Given the description of an element on the screen output the (x, y) to click on. 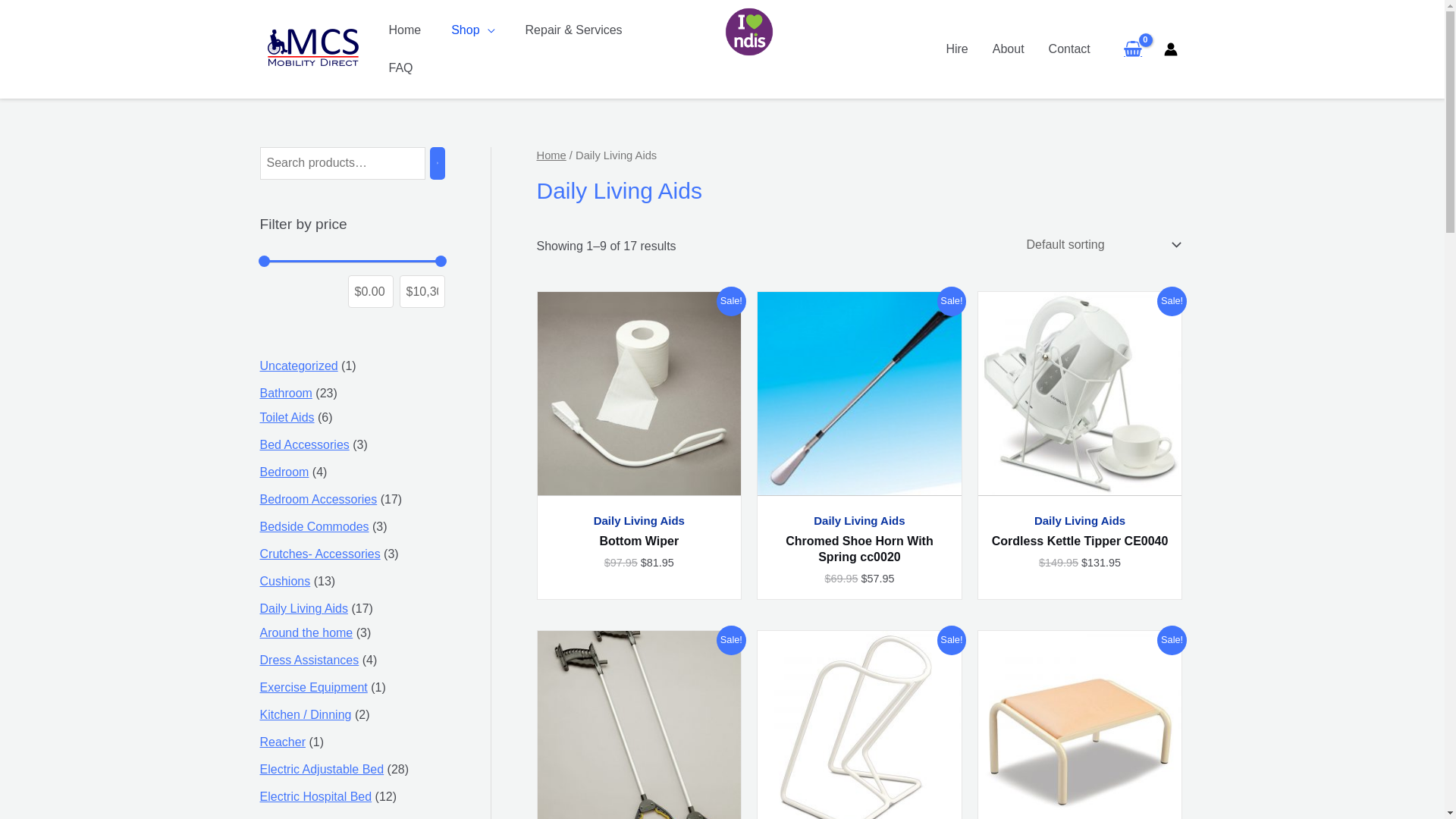
Exercise Equipment Element type: text (313, 686)
Home Element type: text (551, 155)
Bottom Wiper Element type: text (638, 541)
Bedroom Element type: text (283, 471)
Electric Hospital Bed Element type: text (315, 796)
FAQ Element type: text (400, 68)
Hire Element type: text (956, 49)
Daily Living Aids Element type: text (303, 608)
Bed Accessories Element type: text (303, 444)
Contact Element type: text (1069, 49)
Home Element type: text (404, 30)
Around the home Element type: text (305, 632)
Toilet Aids Element type: text (286, 417)
Repair & Services Element type: text (573, 30)
Kitchen / Dinning Element type: text (305, 714)
Bathroom Element type: text (285, 392)
Electric Adjustable Bed Element type: text (321, 768)
Dress Assistances Element type: text (308, 659)
Crutches- Accessories Element type: text (319, 553)
Uncategorized Element type: text (298, 365)
Shop Element type: text (472, 30)
Chromed Shoe Horn With Spring cc0020 Element type: text (859, 549)
Cushions Element type: text (284, 580)
About Element type: text (1008, 49)
Cordless Kettle Tipper CE0040 Element type: text (1079, 541)
Bedside Commodes Element type: text (313, 526)
Reacher Element type: text (281, 741)
Bedroom Accessories Element type: text (317, 498)
